Given the description of an element on the screen output the (x, y) to click on. 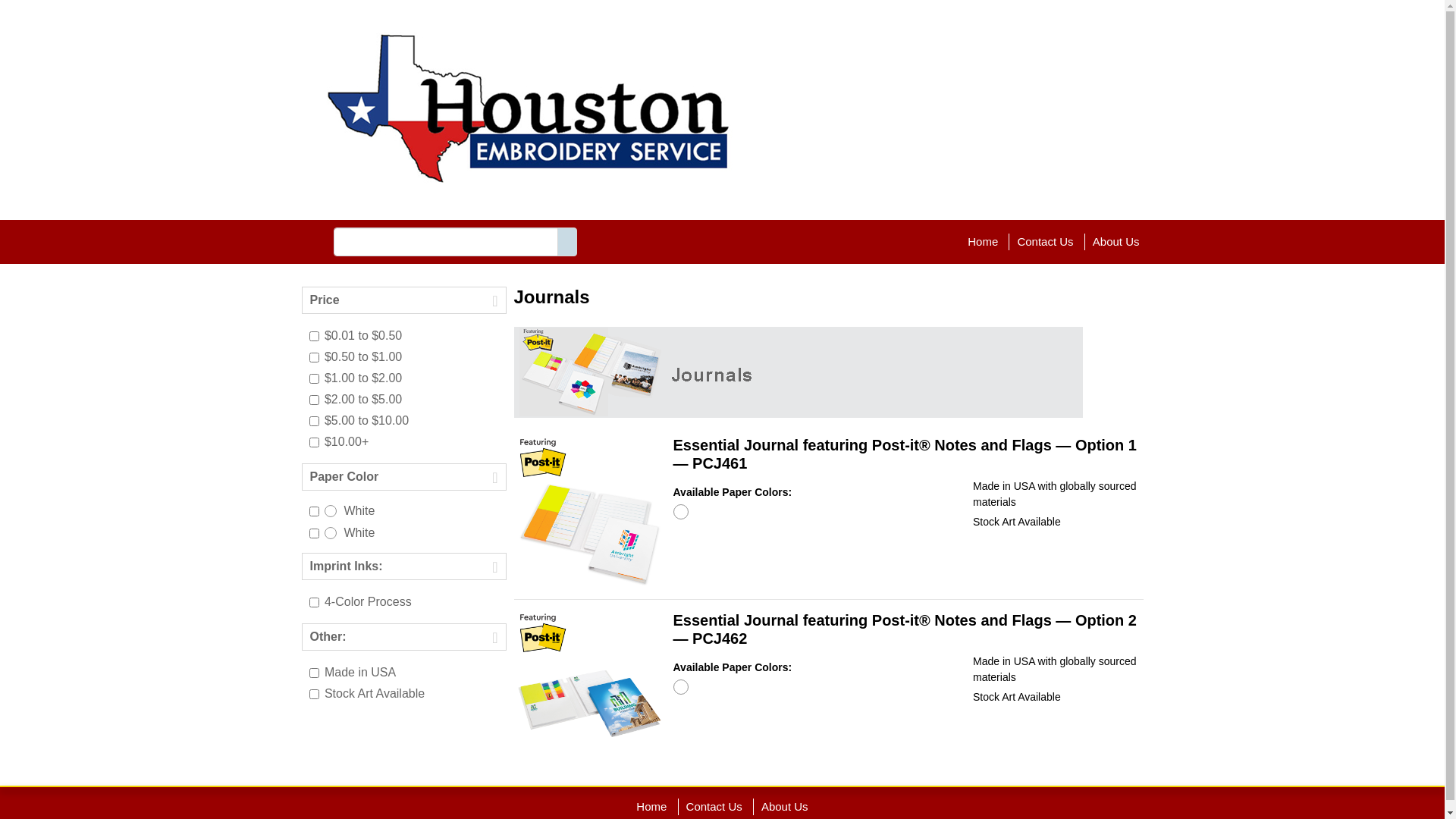
About Us Element type: text (1115, 241)
Contact Us Element type: text (1044, 241)
Home Element type: text (651, 806)
Home Element type: text (982, 241)
Contact Us Element type: text (714, 806)
About Us Element type: text (784, 806)
